Given the description of an element on the screen output the (x, y) to click on. 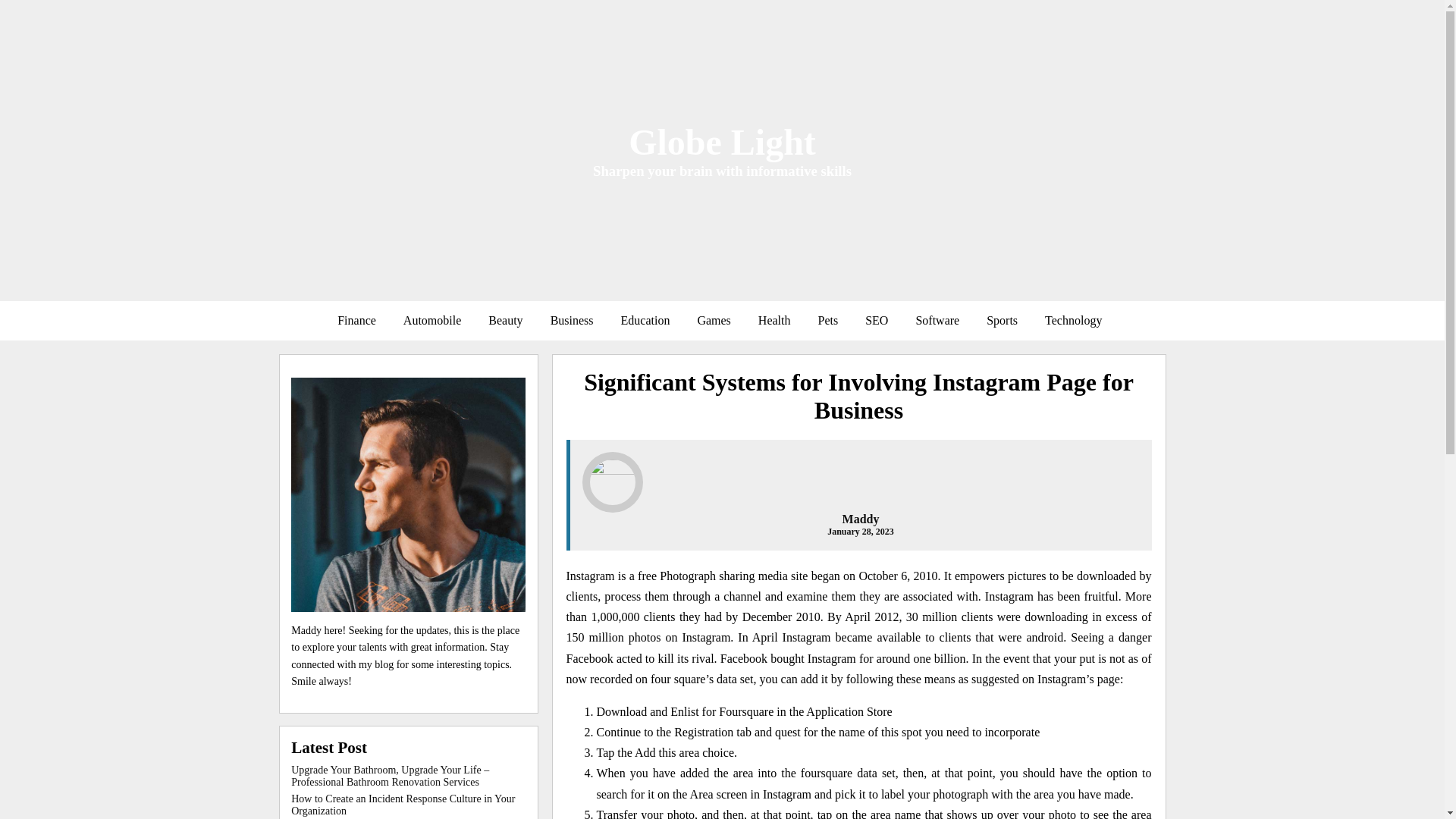
Business (571, 320)
SEO (876, 320)
Sports (1001, 320)
9:40 am (860, 531)
Software (936, 320)
January 28, 2023 (860, 531)
Globe Light (721, 142)
Beauty (505, 320)
Pets (827, 320)
Automobile (432, 320)
Finance (356, 320)
Games (713, 320)
Education (645, 320)
View all posts by Maddy (861, 518)
